Given the description of an element on the screen output the (x, y) to click on. 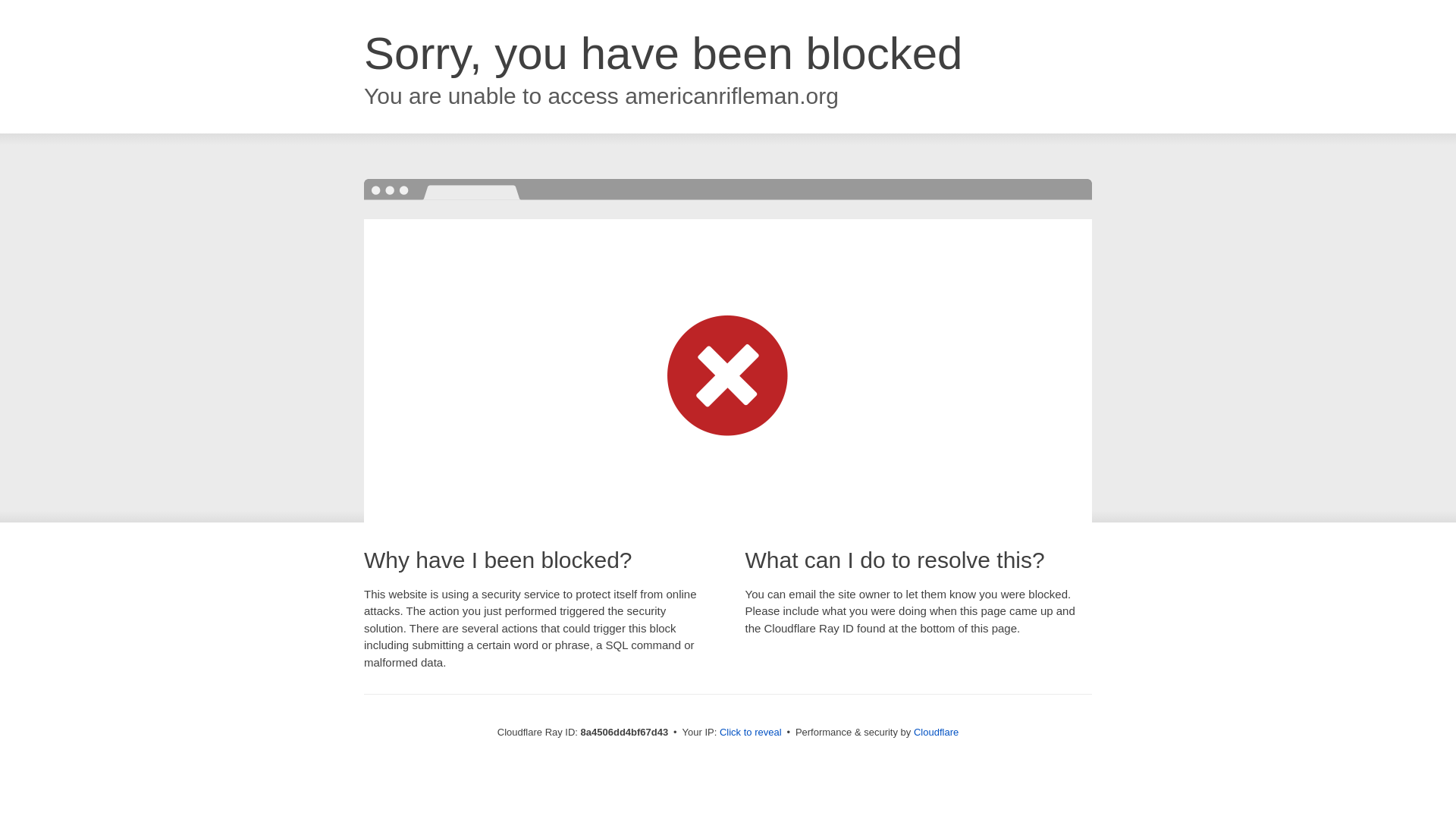
Click to reveal (750, 732)
Cloudflare (936, 731)
